Given the description of an element on the screen output the (x, y) to click on. 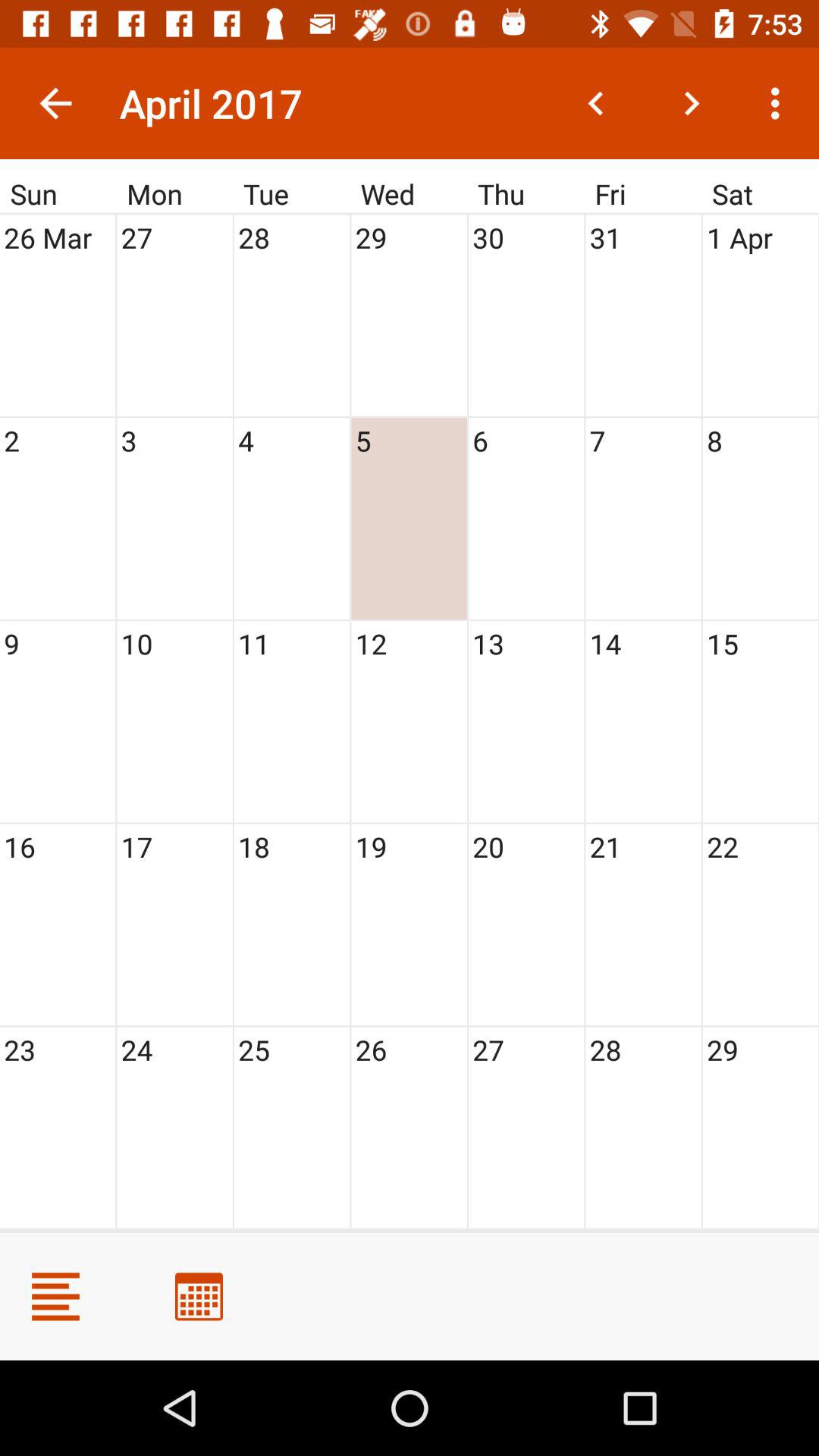
launch the item next to april 2017 icon (55, 103)
